Given the description of an element on the screen output the (x, y) to click on. 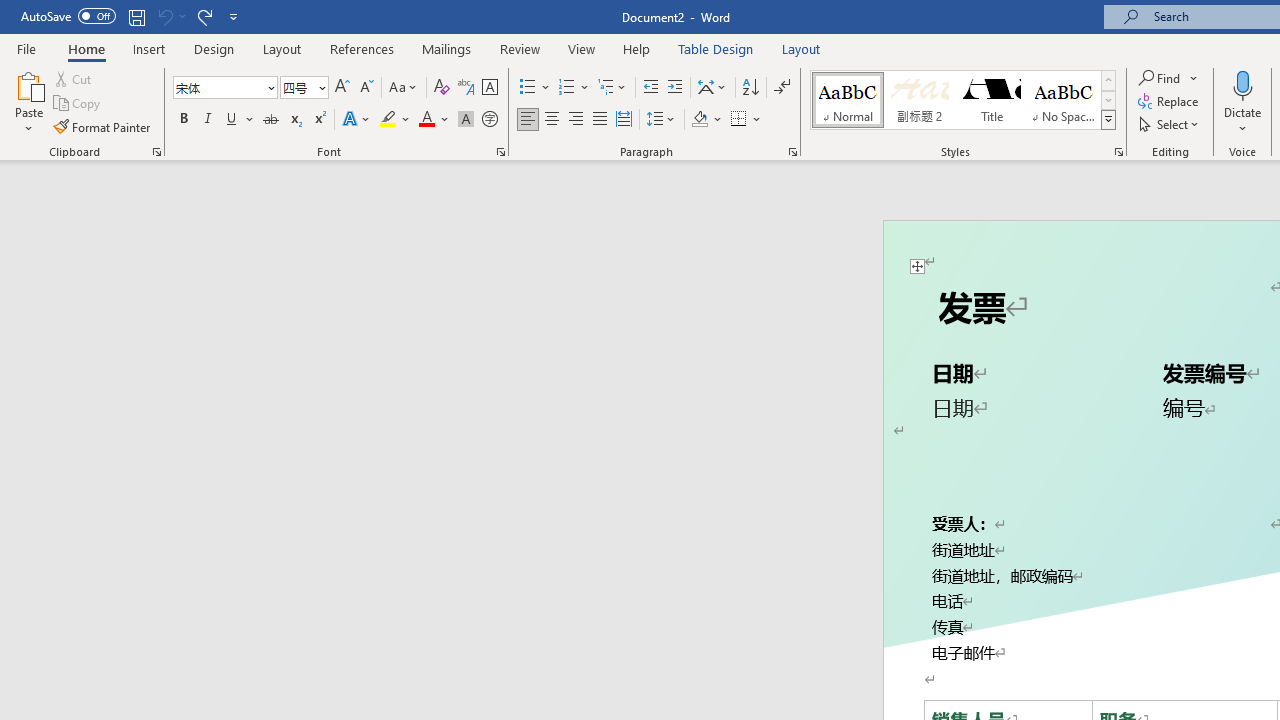
Font Color Red (426, 119)
